Given the description of an element on the screen output the (x, y) to click on. 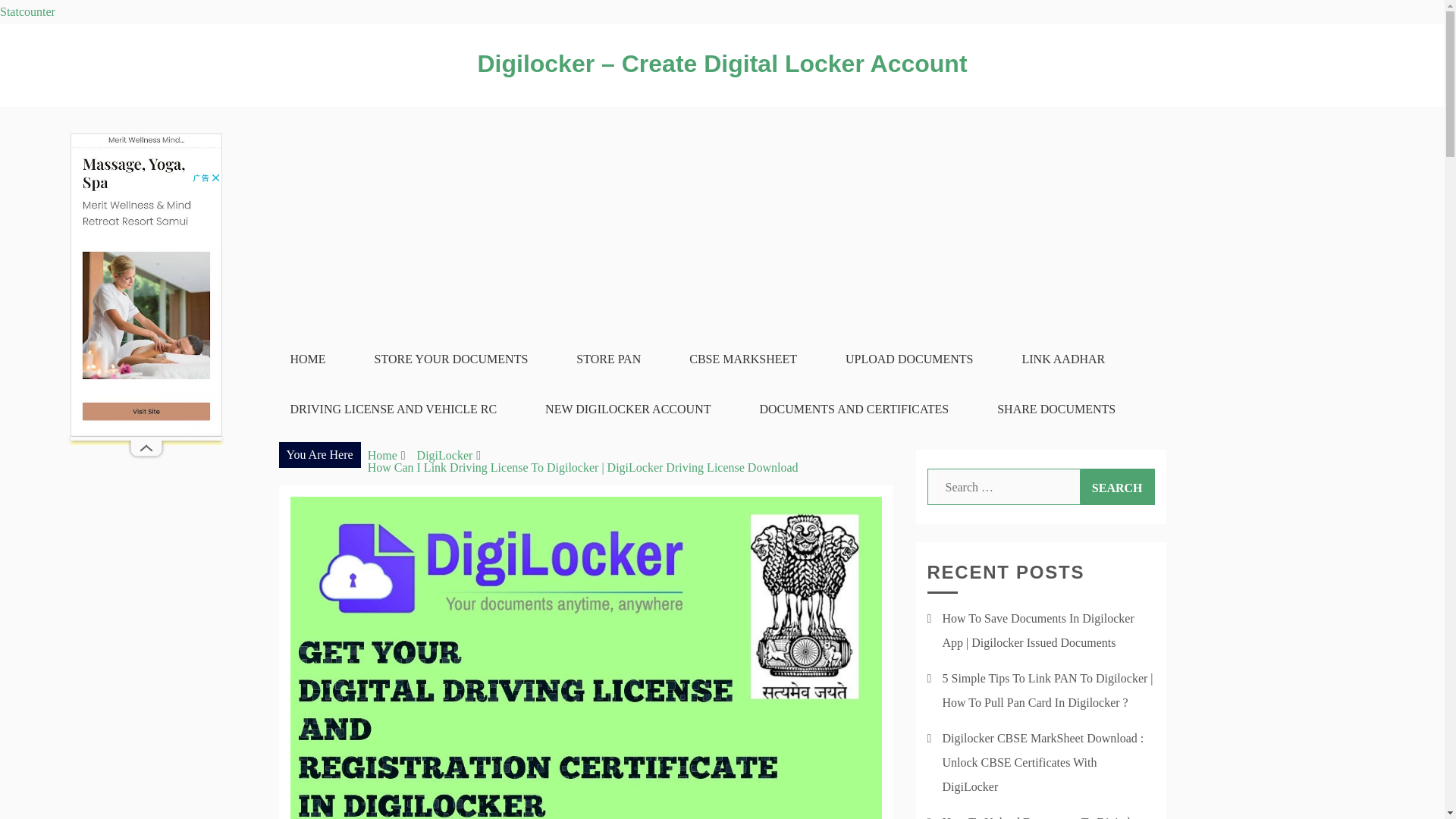
CBSE MARKSHEET (742, 359)
LINK AADHAR (1062, 359)
STORE PAN (608, 359)
Search (1117, 486)
STORE YOUR DOCUMENTS (451, 359)
DOCUMENTS AND CERTIFICATES (853, 409)
Search (1117, 486)
SHARE DOCUMENTS (1056, 409)
DigiLocker (444, 454)
